Given the description of an element on the screen output the (x, y) to click on. 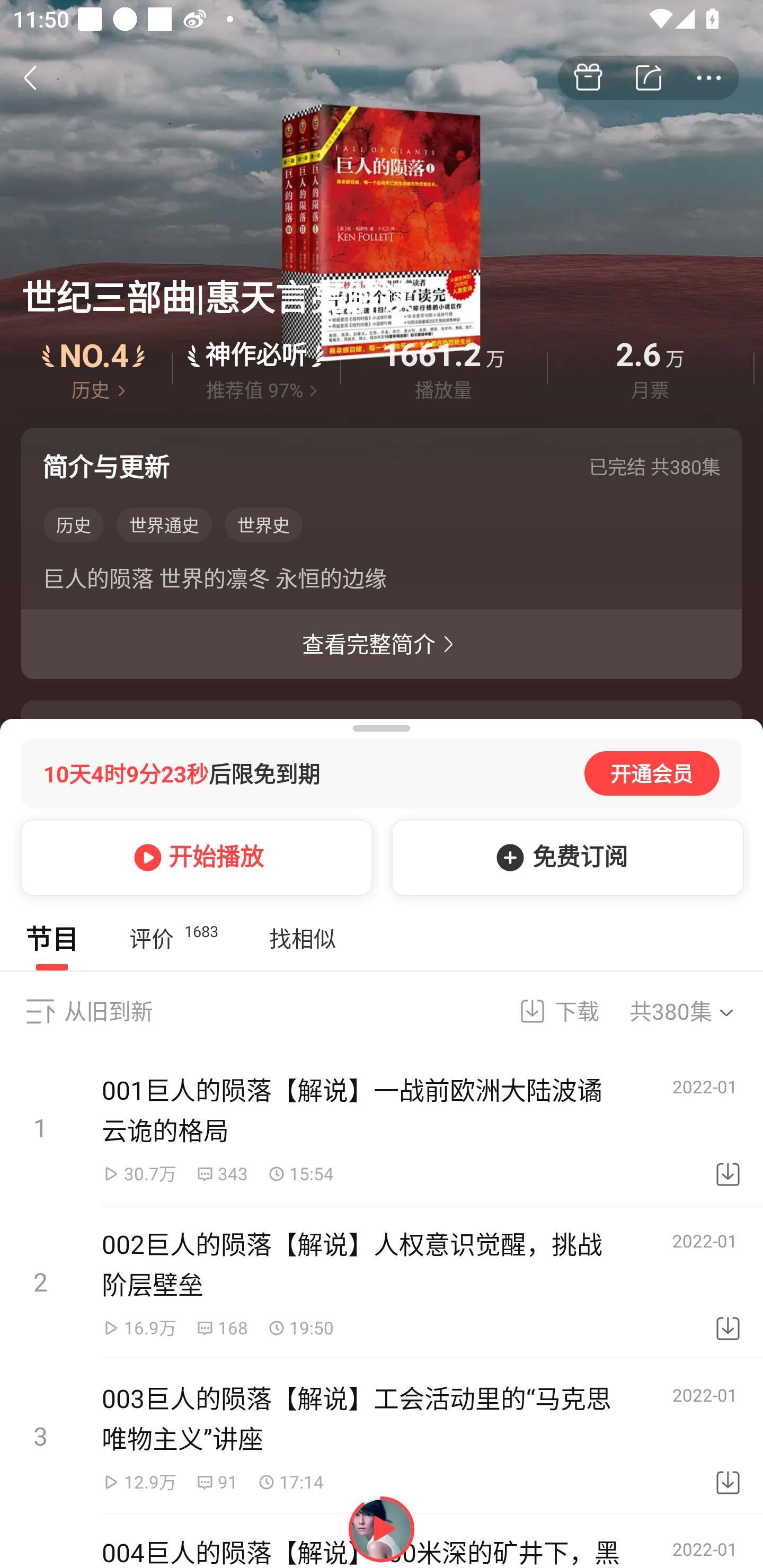
返回 (40, 77)
买赠 (587, 78)
分享 (648, 78)
更多 (709, 78)
排行榜 (93, 368)
评价 (255, 368)
历史 (73, 525)
世界通史 (164, 525)
世界史 (263, 525)
巨人的陨落 世界的凛冬 永恒的边缘 (381, 582)
查看完整简介 (381, 643)
开始播放 (193, 857)
免费订阅 (564, 857)
节目 (51, 938)
评价  1683 (173, 938)
找相似 (302, 938)
排序，从旧到新 (40, 1011)
从旧到新 (108, 1011)
下载 (546, 1011)
共380集 选集，共380集 (693, 1011)
下载 (728, 1127)
下载 (728, 1282)
下载 (728, 1436)
继续播放Alpha-橘子海OrangeOcean (381, 1529)
粉丝月票贡献榜 投月票 投月票 (381, 1546)
